Given the description of an element on the screen output the (x, y) to click on. 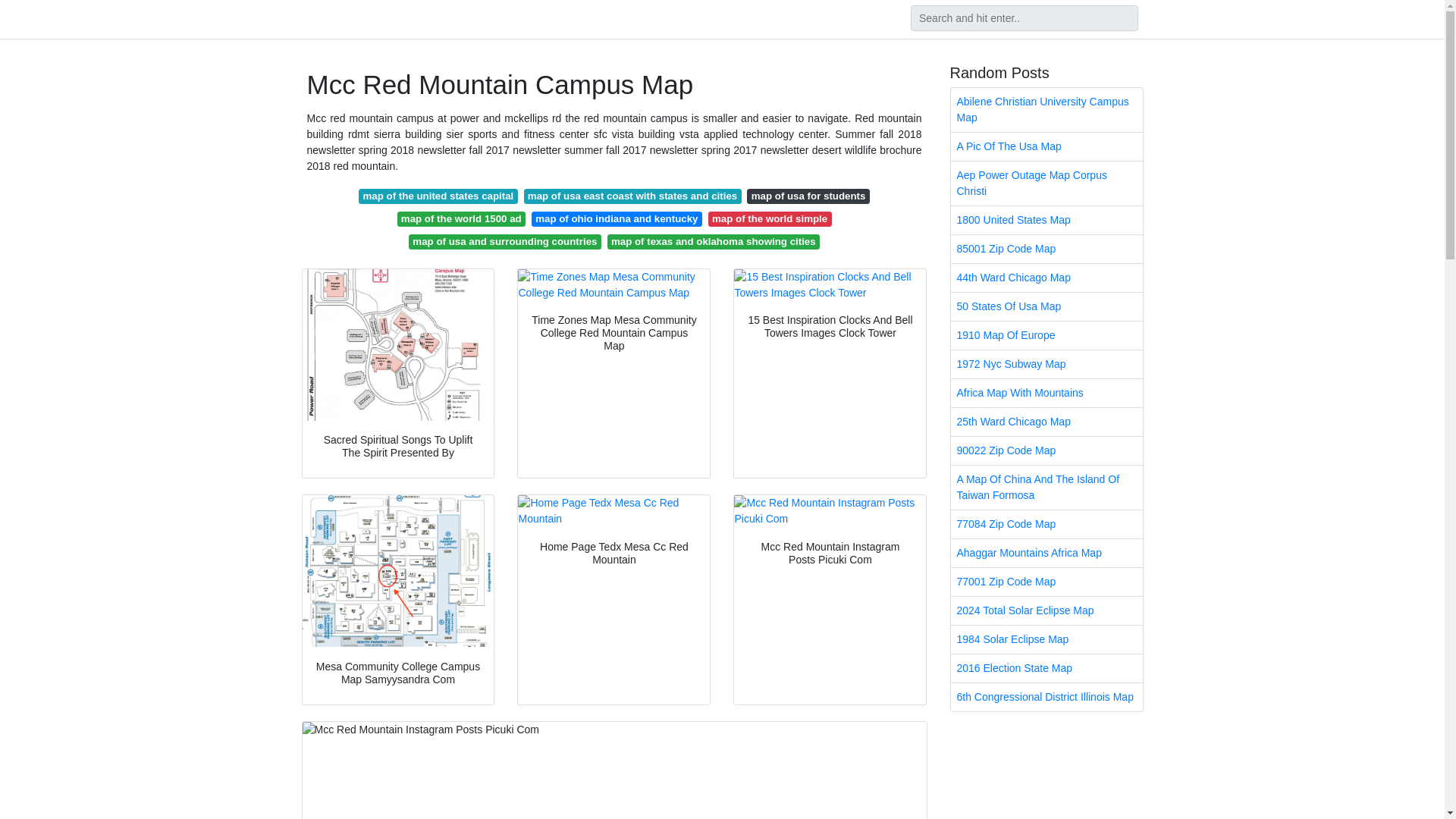
map of usa east coast with states and cities (632, 196)
85001 Zip Code Map (1046, 248)
map of ohio indiana and kentucky (616, 218)
1972 Nyc Subway Map (1046, 364)
44th Ward Chicago Map (1046, 277)
map of the world 1500 ad (461, 218)
map of the world simple (769, 218)
1800 United States Map (1046, 220)
50 States Of Usa Map (1046, 306)
Aep Power Outage Map Corpus Christi (1046, 183)
